Given the description of an element on the screen output the (x, y) to click on. 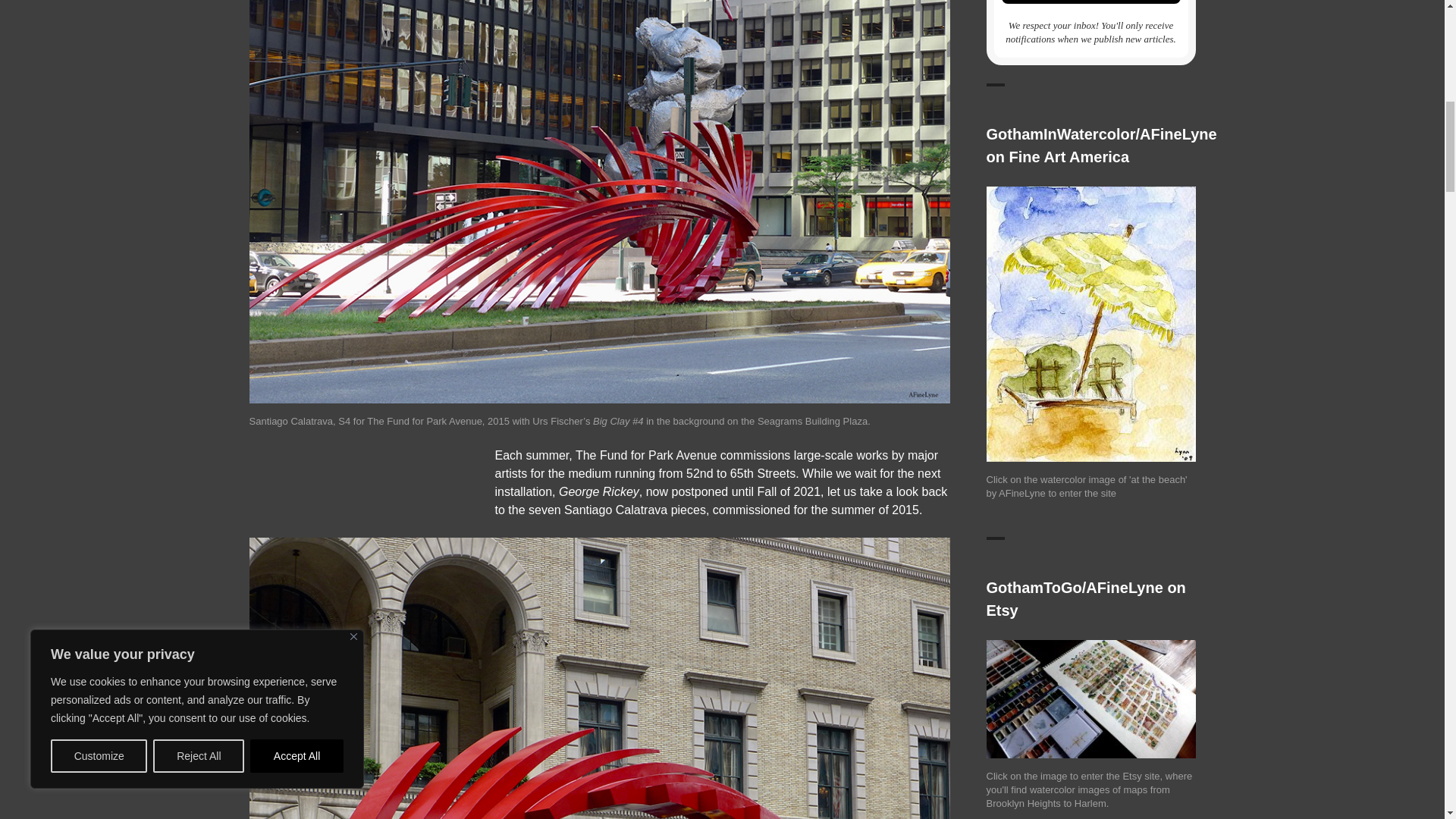
AFineLyne on Etsy (1090, 698)
SUBSCRIBE NOW (1090, 2)
